Given the description of an element on the screen output the (x, y) to click on. 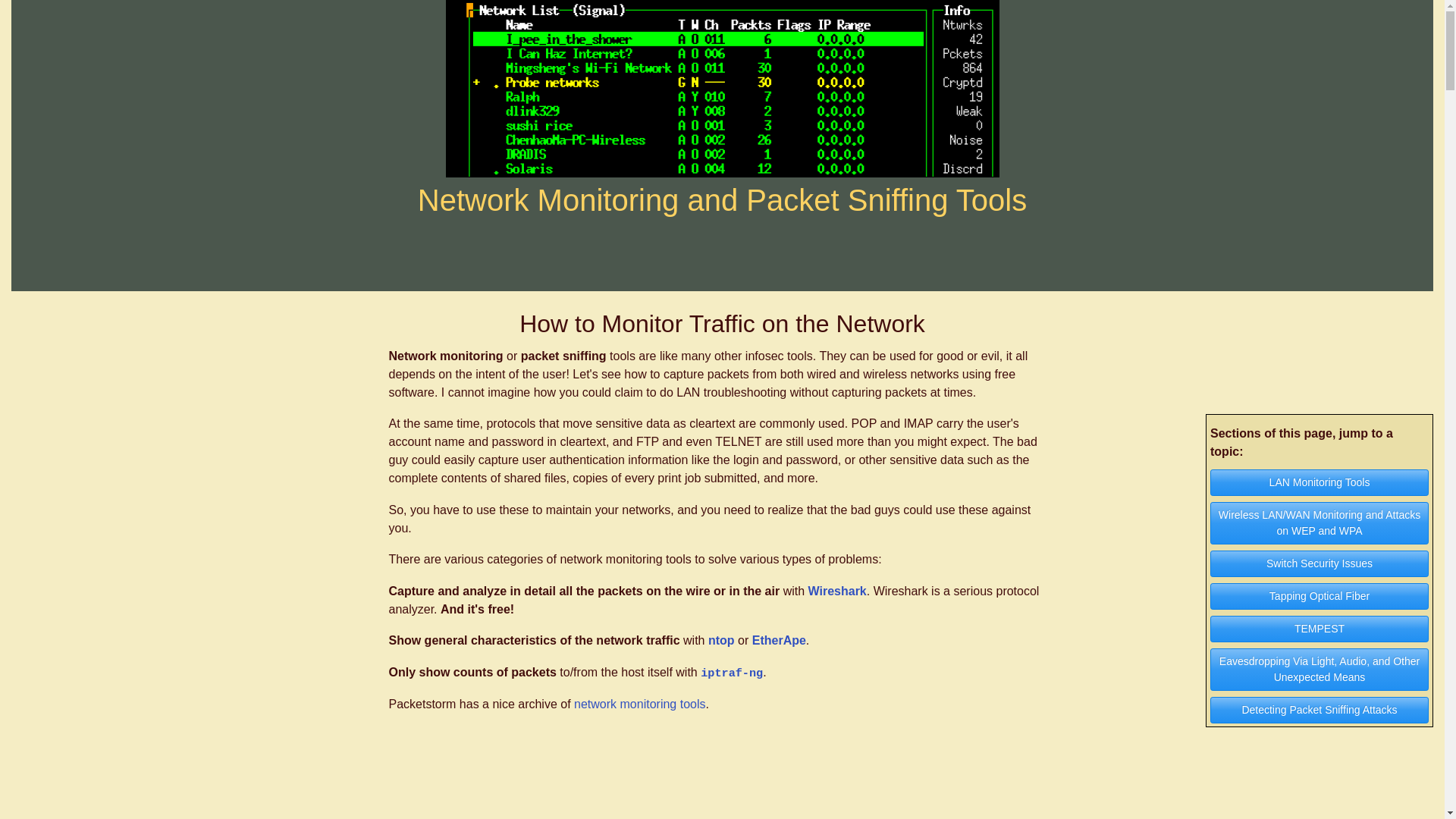
TEMPEST (1318, 628)
Switch Security Issues (1318, 563)
iptraf-ng (731, 671)
LAN Monitoring Tools (1318, 482)
Wireshark (837, 590)
EtherApe (779, 640)
Eavesdropping Via Light, Audio, and Other Unexpected Means (1318, 669)
Detecting Packet Sniffing Attacks (1318, 709)
network monitoring tools (638, 703)
ntop (721, 640)
Tapping Optical Fiber (1318, 596)
